Given the description of an element on the screen output the (x, y) to click on. 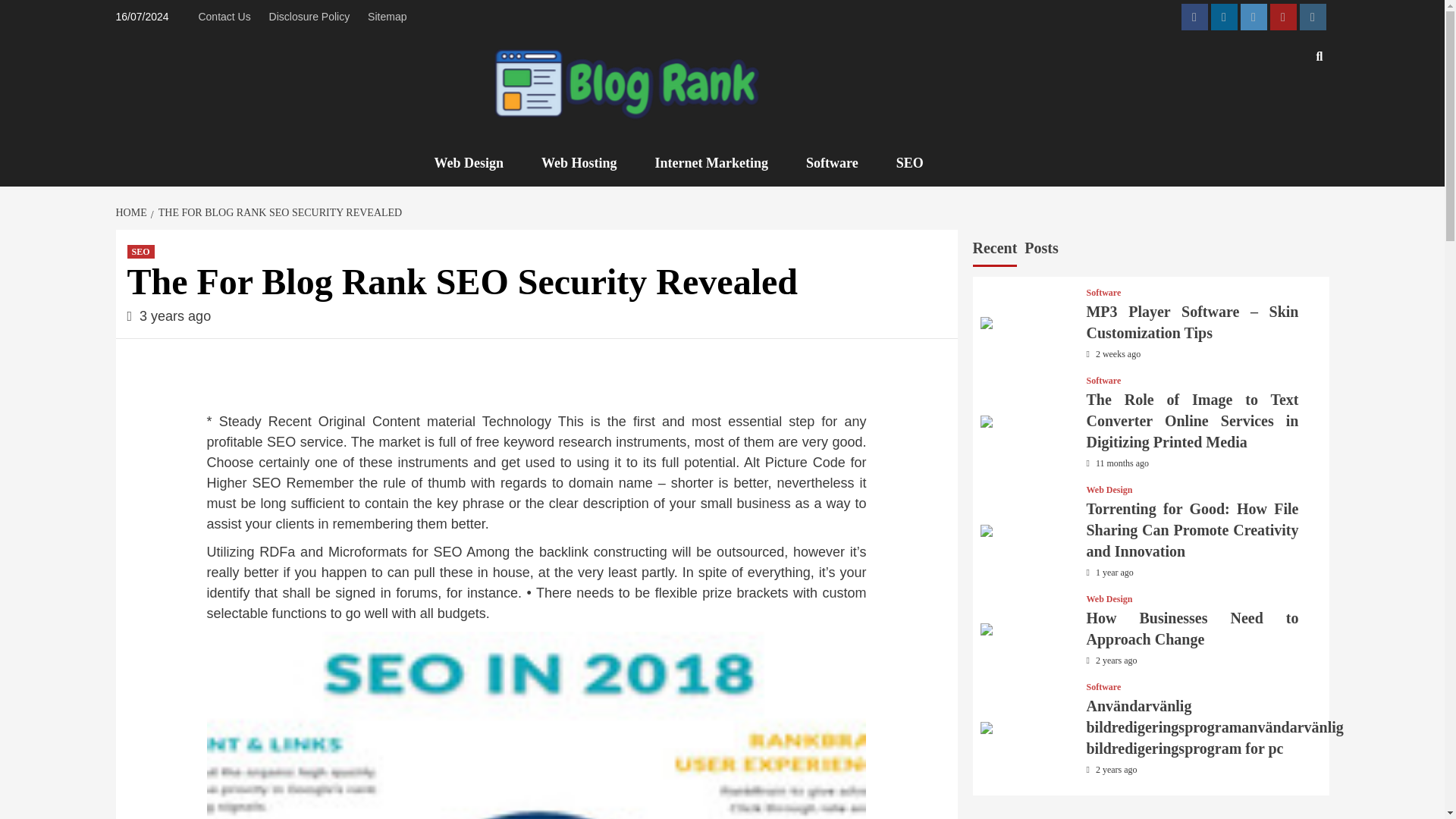
Software (1103, 379)
Instagram (1313, 17)
Search (1283, 139)
Sitemap (386, 17)
HOME (132, 212)
Web Hosting (590, 163)
Twitter (1253, 17)
Disclosure Policy (310, 17)
Internet Marketing (722, 163)
Web Design (479, 163)
SEO (141, 251)
Youtube (1282, 17)
How Businesses Need to Approach Change (1192, 628)
Contact Us (227, 17)
